Given the description of an element on the screen output the (x, y) to click on. 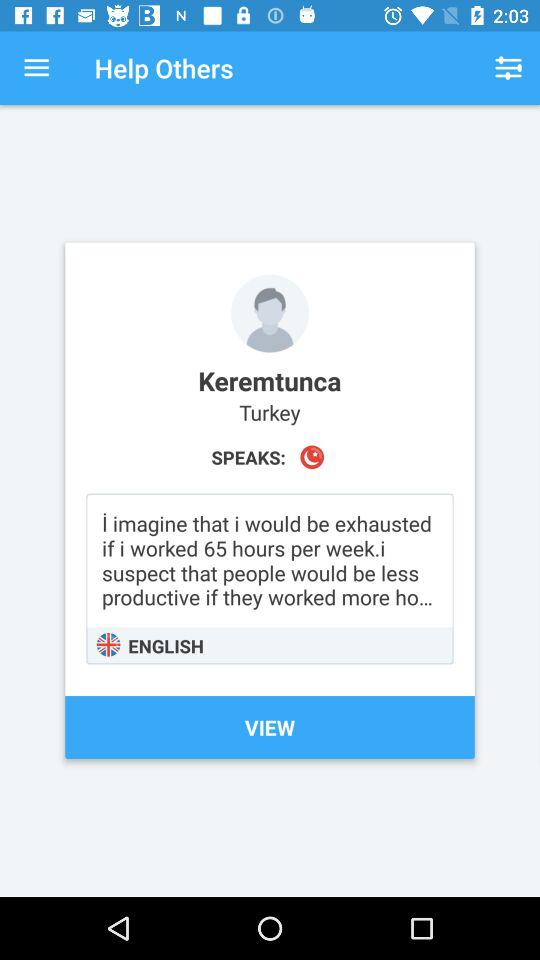
profile photo (269, 313)
